Given the description of an element on the screen output the (x, y) to click on. 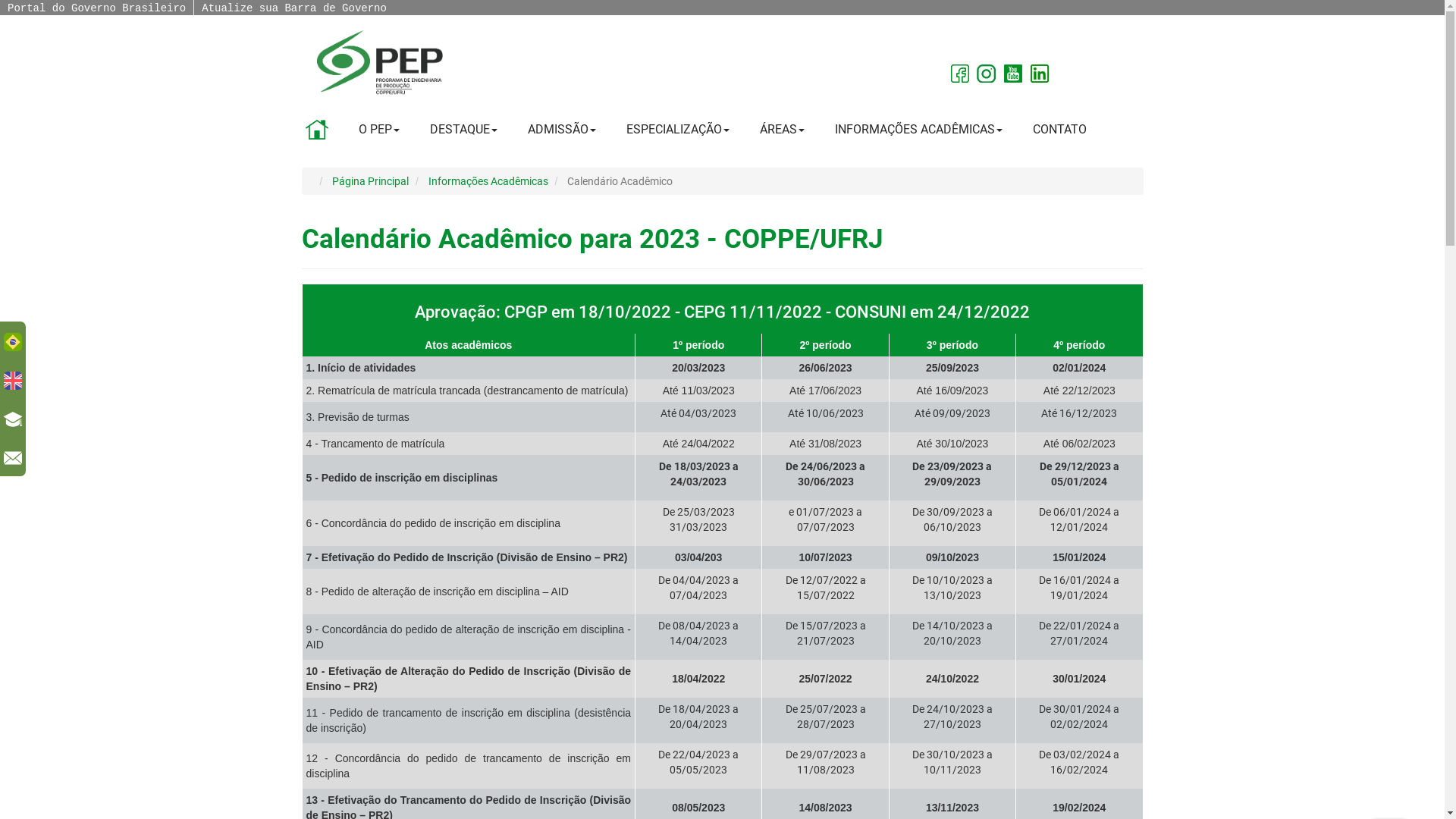
CONTATO Element type: text (1059, 129)
Atualize sua Barra de Governo Element type: text (293, 8)
Portal do Governo Brasileiro Element type: text (96, 8)
HOME Element type: text (316, 129)
